Given the description of an element on the screen output the (x, y) to click on. 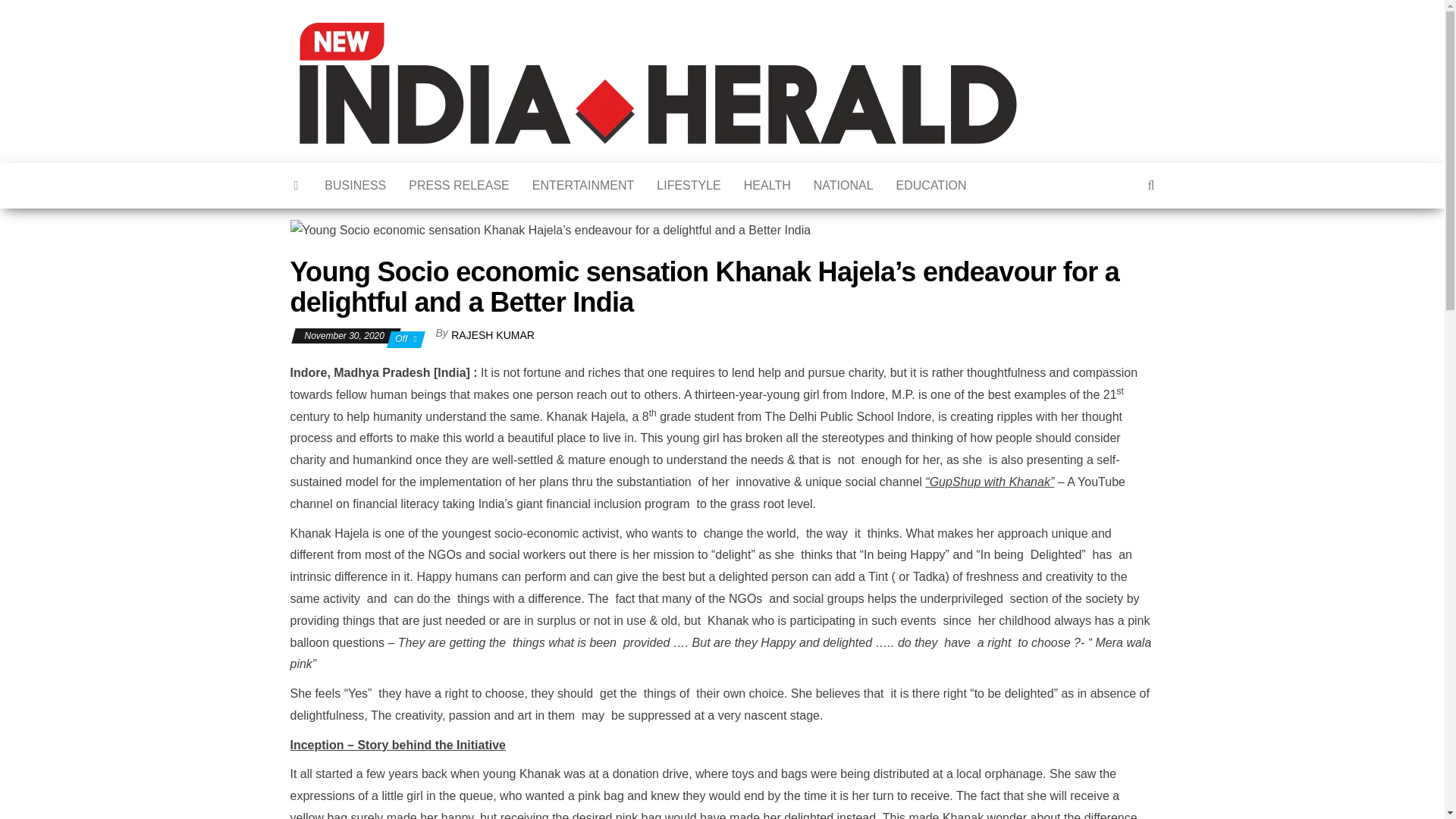
Business (355, 185)
Lifestyle (688, 185)
EDUCATION (931, 185)
PRESS RELEASE (459, 185)
Health (767, 185)
ENTERTAINMENT (583, 185)
Entertainment (583, 185)
RAJESH KUMAR (492, 335)
Press Release (459, 185)
National (843, 185)
New India Herald (1045, 64)
Education (931, 185)
HEALTH (767, 185)
NATIONAL (843, 185)
BUSINESS (355, 185)
